Given the description of an element on the screen output the (x, y) to click on. 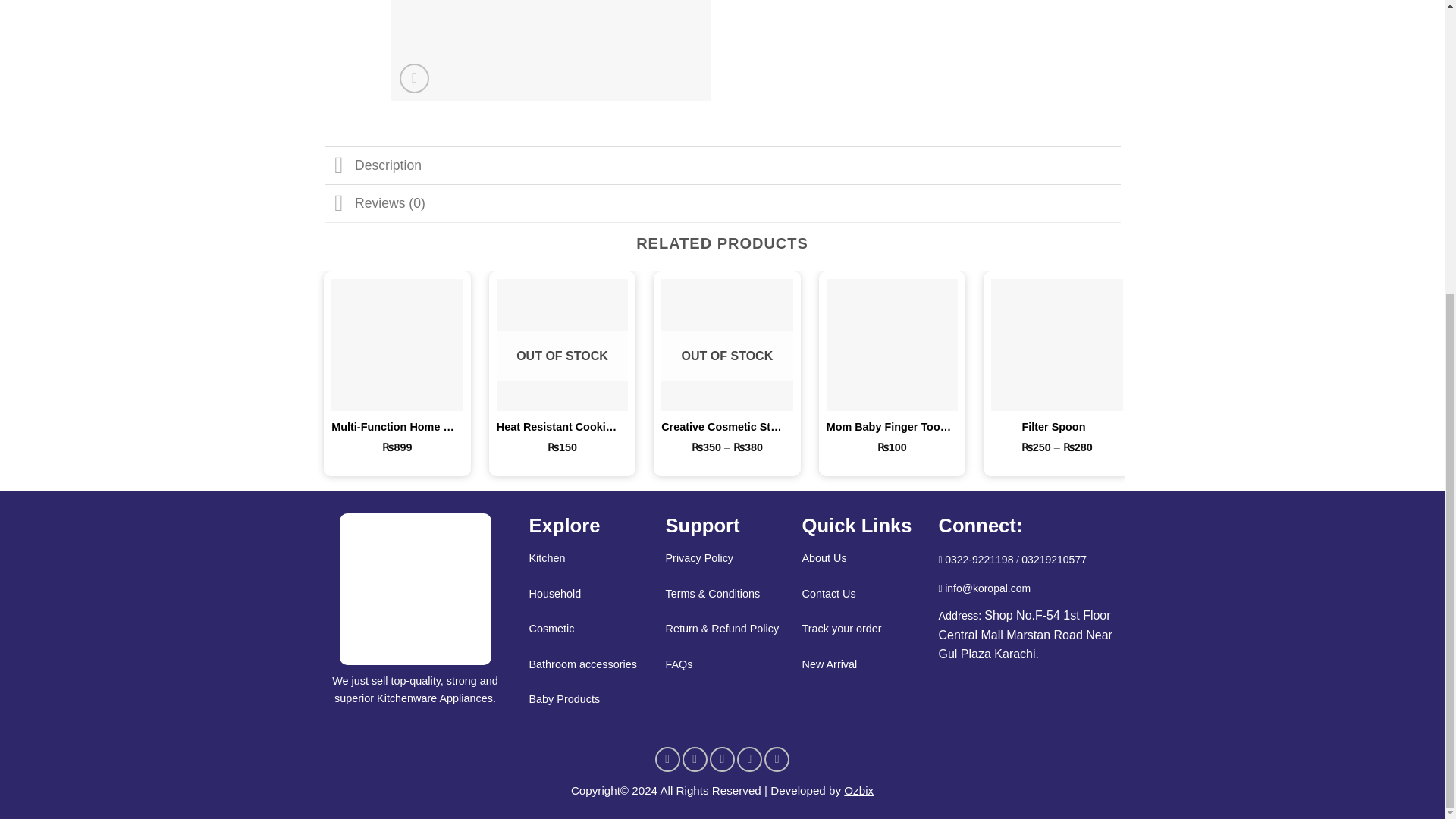
Zoom (413, 78)
